Given the description of an element on the screen output the (x, y) to click on. 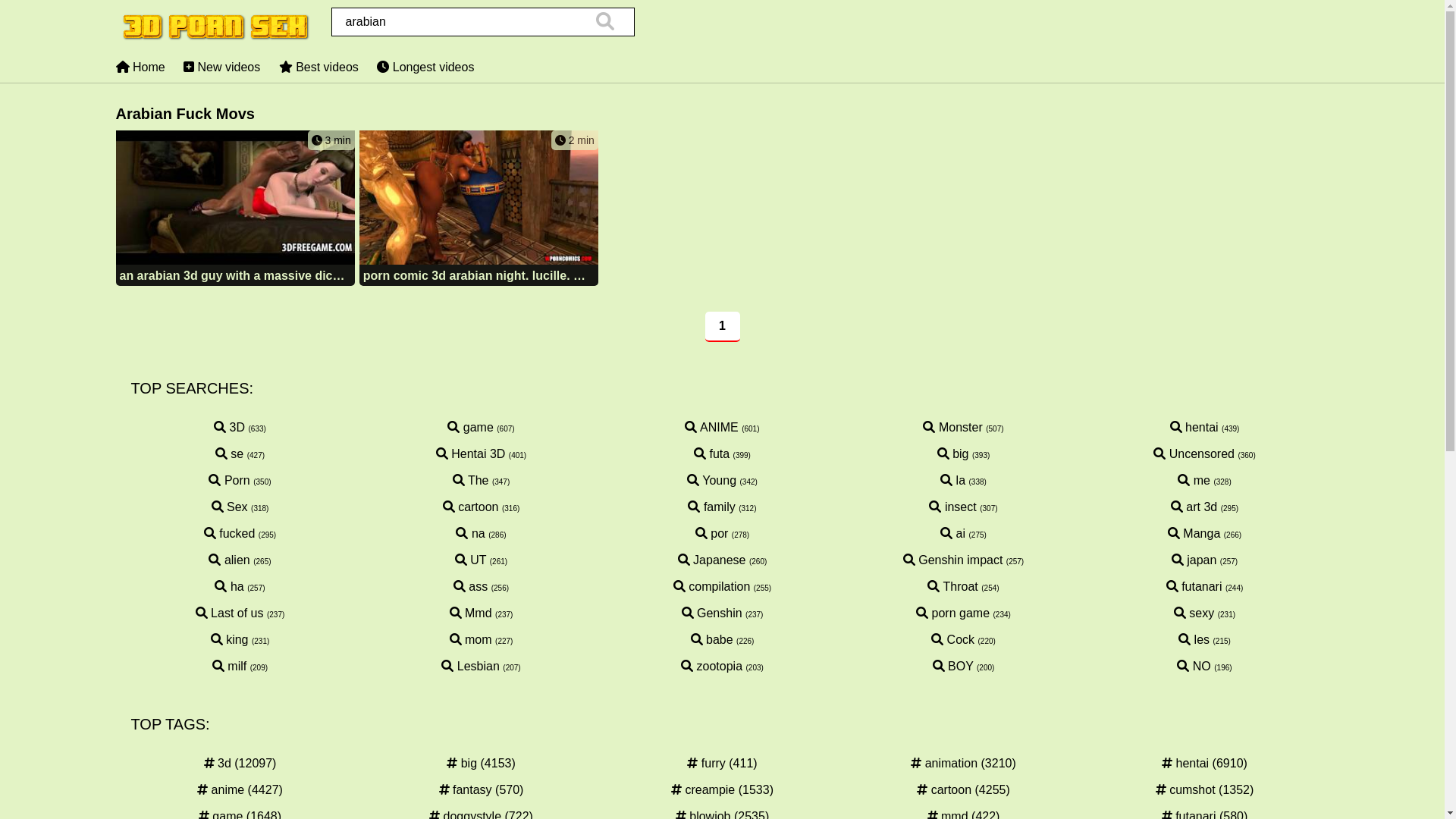
futa Element type: text (711, 453)
porn game Element type: text (952, 612)
family Element type: text (710, 506)
mom Element type: text (470, 639)
3D Element type: text (228, 426)
king Element type: text (229, 639)
ha Element type: text (228, 586)
japan Element type: text (1194, 559)
ass Element type: text (470, 586)
3 min
an arabian 3d guy with a massive dick fucks a whore Element type: text (234, 209)
anime (4427) Element type: text (239, 789)
Manga Element type: text (1193, 533)
les Element type: text (1193, 639)
Best videos Element type: text (318, 66)
BOY Element type: text (952, 665)
futanari Element type: text (1194, 586)
Throat Element type: text (952, 586)
ai Element type: text (952, 533)
Lesbian Element type: text (470, 665)
big (4153) Element type: text (480, 763)
compilation Element type: text (711, 586)
Last of us Element type: text (229, 612)
2 min
porn comic 3d arabian night. lucille. wporncomics.com Element type: text (478, 209)
big Element type: text (953, 453)
alien Element type: text (228, 559)
se Element type: text (229, 453)
sexy Element type: text (1193, 612)
Home Element type: text (139, 66)
Monster Element type: text (952, 426)
UT Element type: text (470, 559)
insect Element type: text (951, 506)
la Element type: text (952, 479)
Longest videos Element type: text (424, 66)
furry (411) Element type: text (721, 763)
3d (12097) Element type: text (239, 763)
cartoon (4255) Element type: text (962, 789)
creampie (1533) Element type: text (721, 789)
hentai (6910) Element type: text (1204, 763)
Genshin impact Element type: text (953, 559)
Mmd Element type: text (470, 612)
zootopia Element type: text (711, 665)
Japanese Element type: text (711, 559)
fantasy (570) Element type: text (480, 789)
na Element type: text (469, 533)
Young Element type: text (711, 479)
Porn Element type: text (228, 479)
animation (3210) Element type: text (962, 763)
Uncensored Element type: text (1193, 453)
ANIME Element type: text (710, 426)
art 3d Element type: text (1193, 506)
game Element type: text (469, 426)
cumshot (1352) Element type: text (1204, 789)
fucked Element type: text (229, 533)
Hentai 3D Element type: text (470, 453)
milf Element type: text (229, 665)
cartoon Element type: text (470, 506)
1 Element type: text (722, 326)
por Element type: text (711, 533)
NO Element type: text (1193, 665)
hentai Element type: text (1194, 426)
The Element type: text (470, 479)
New videos Element type: text (221, 66)
me Element type: text (1193, 479)
Genshin Element type: text (711, 612)
Cock Element type: text (952, 639)
babe Element type: text (711, 639)
Sex Element type: text (229, 506)
